Given the description of an element on the screen output the (x, y) to click on. 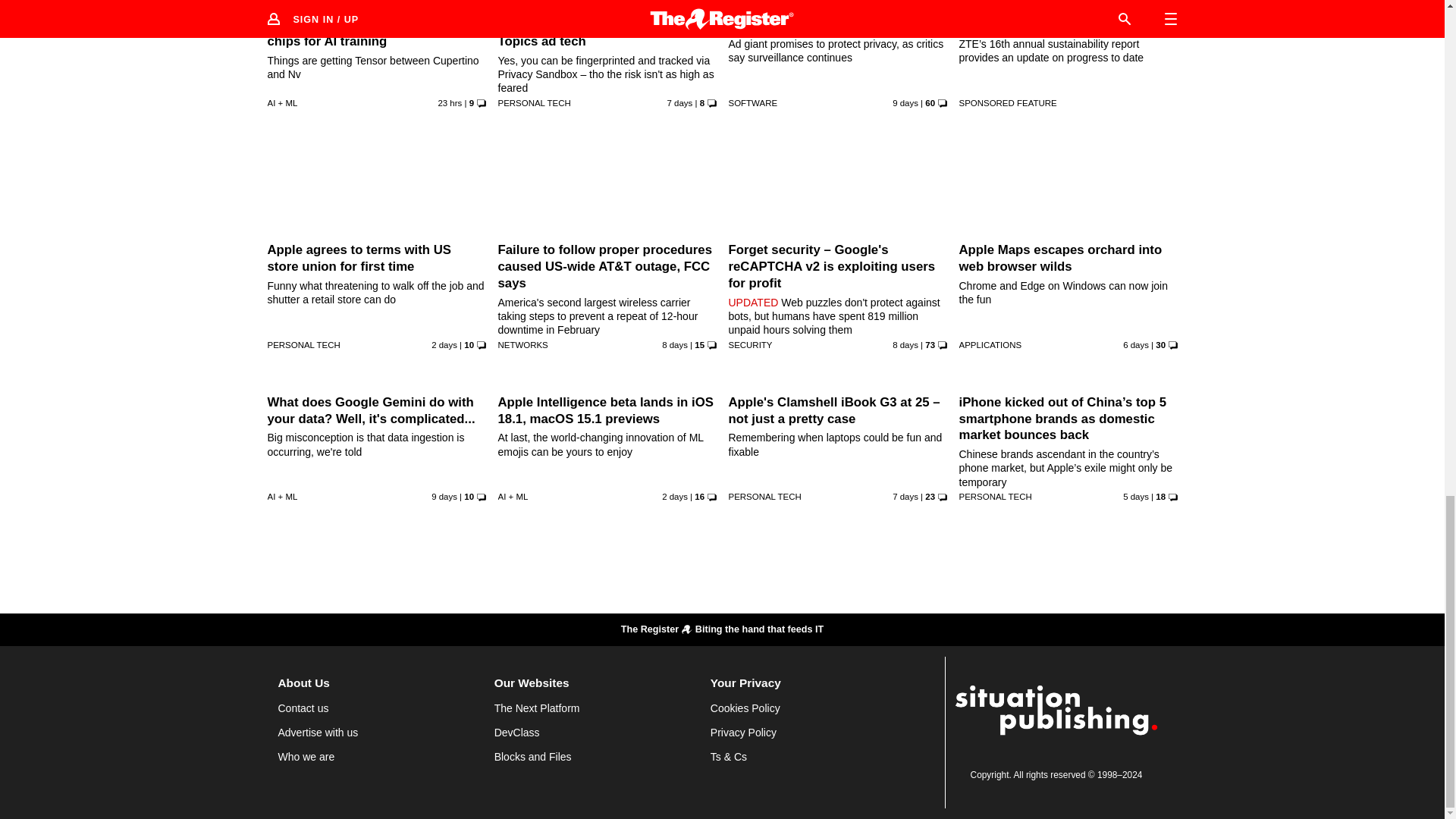
24 Jul 2024 6:33 (905, 344)
25 Jul 2024 15:34 (1135, 344)
30 Jul 2024 22:7 (449, 102)
30 Jul 2024 0:1 (443, 344)
23 Jul 2024 13:45 (674, 344)
23 Jul 2024 0:3 (905, 102)
24 Jul 2024 20:44 (679, 102)
